Given the description of an element on the screen output the (x, y) to click on. 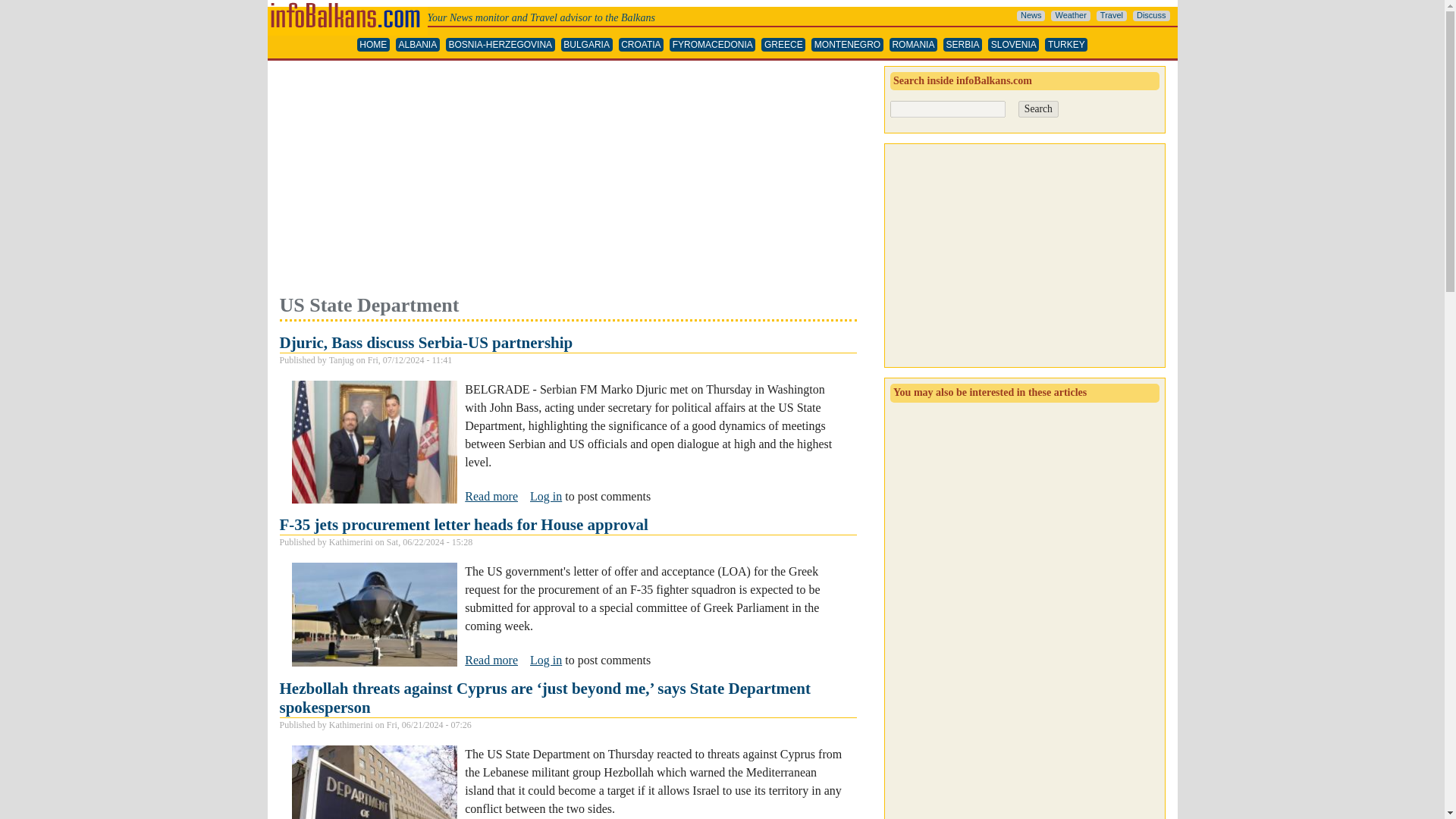
FYROMACEDONIA (712, 44)
Djuric, Bass discuss Serbia-US partnership (425, 342)
ALBANIA (417, 44)
BOSNIA-HERZEGOVINA (499, 44)
HOME (373, 44)
Weather (1070, 15)
SLOVENIA (1013, 44)
MONTENEGRO (846, 44)
Djuric, Bass discuss Serbia-US partnership (491, 496)
Home (346, 6)
